Given the description of an element on the screen output the (x, y) to click on. 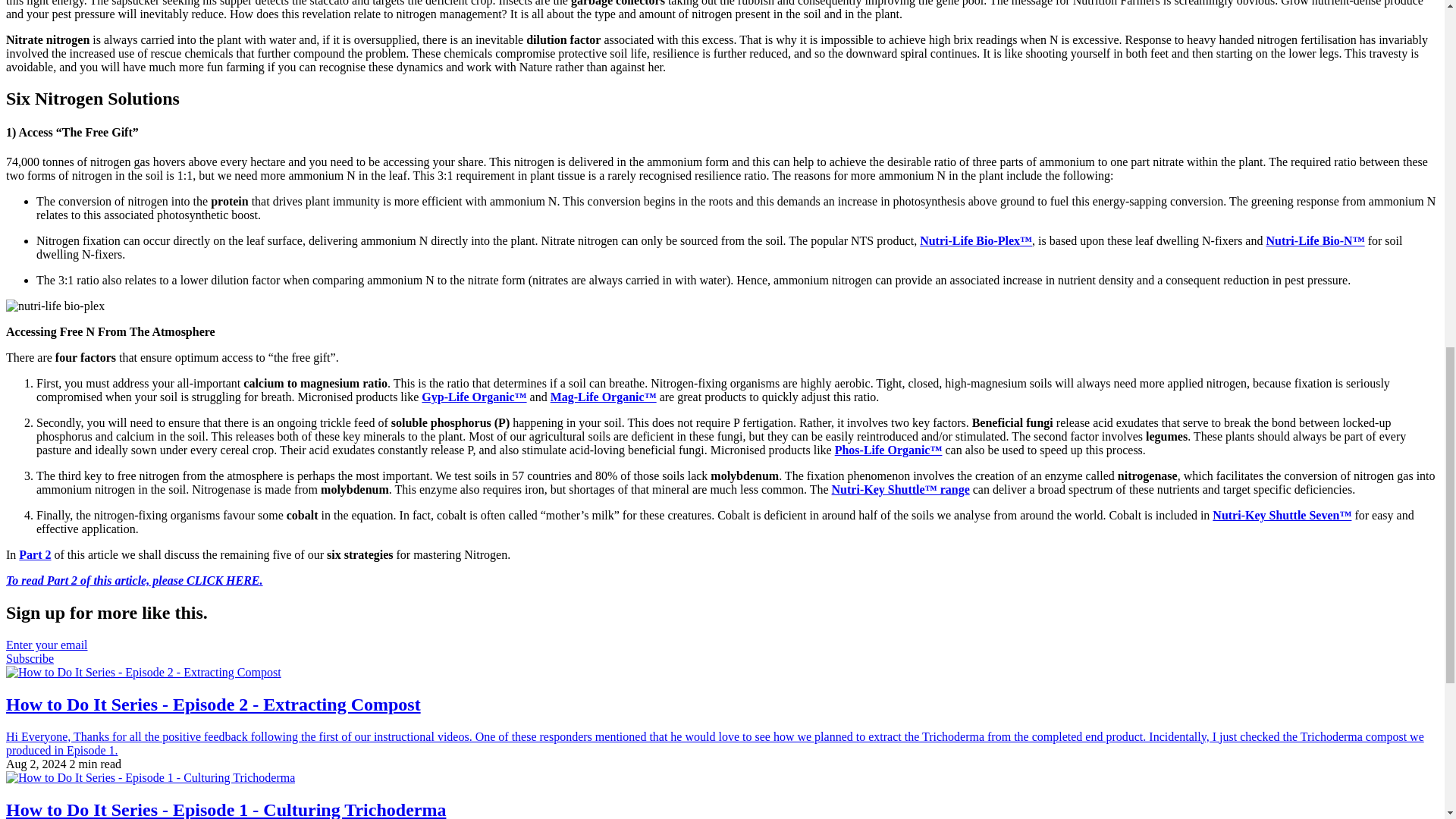
Part 2 (34, 554)
To read Part 2 of this article, please CLICK HERE. (134, 580)
